Given the description of an element on the screen output the (x, y) to click on. 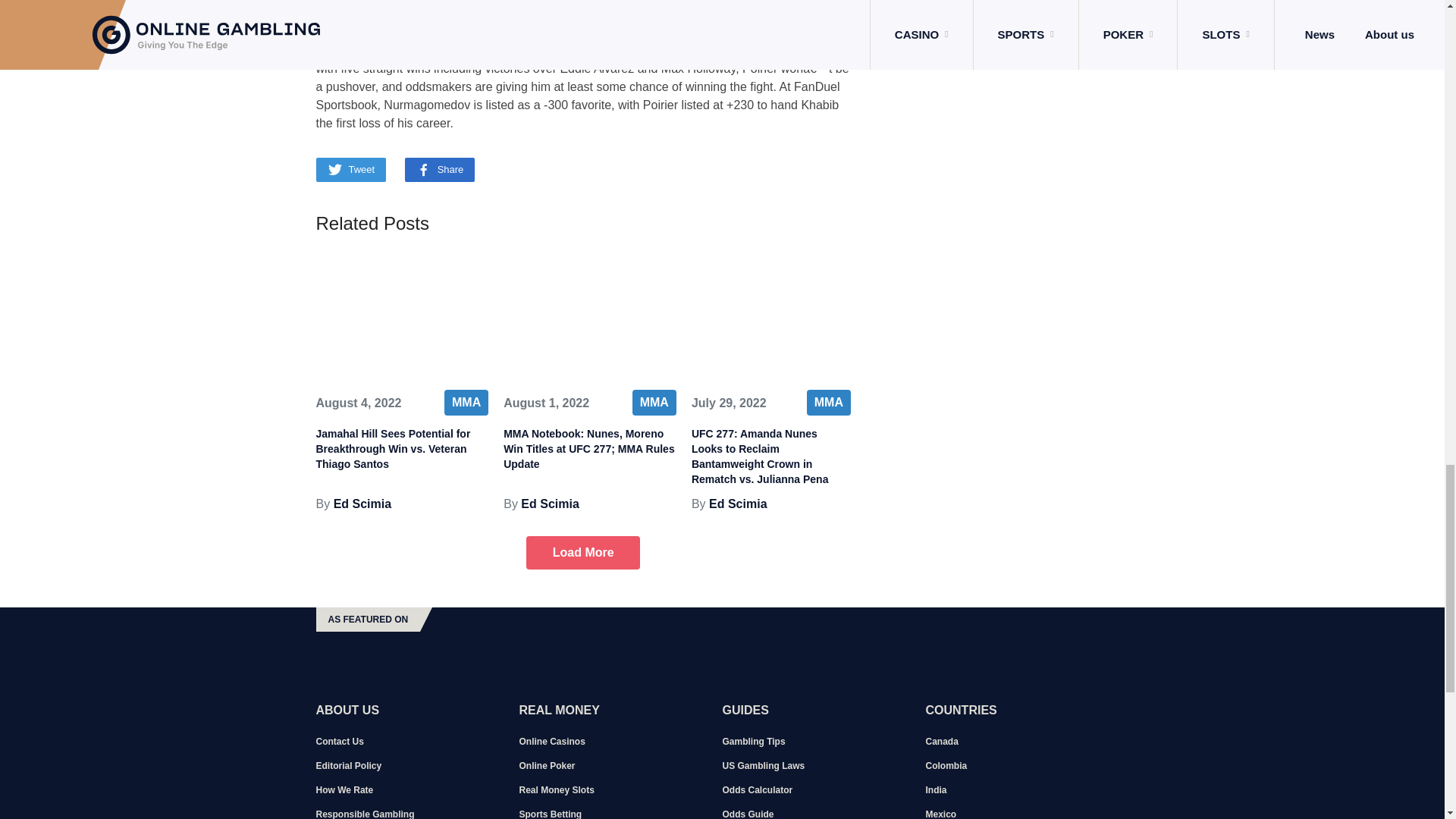
MMA (828, 402)
MMA (654, 402)
Share this on Facebook (440, 169)
Tweet this on Twitter (350, 169)
MMA (465, 402)
